Given the description of an element on the screen output the (x, y) to click on. 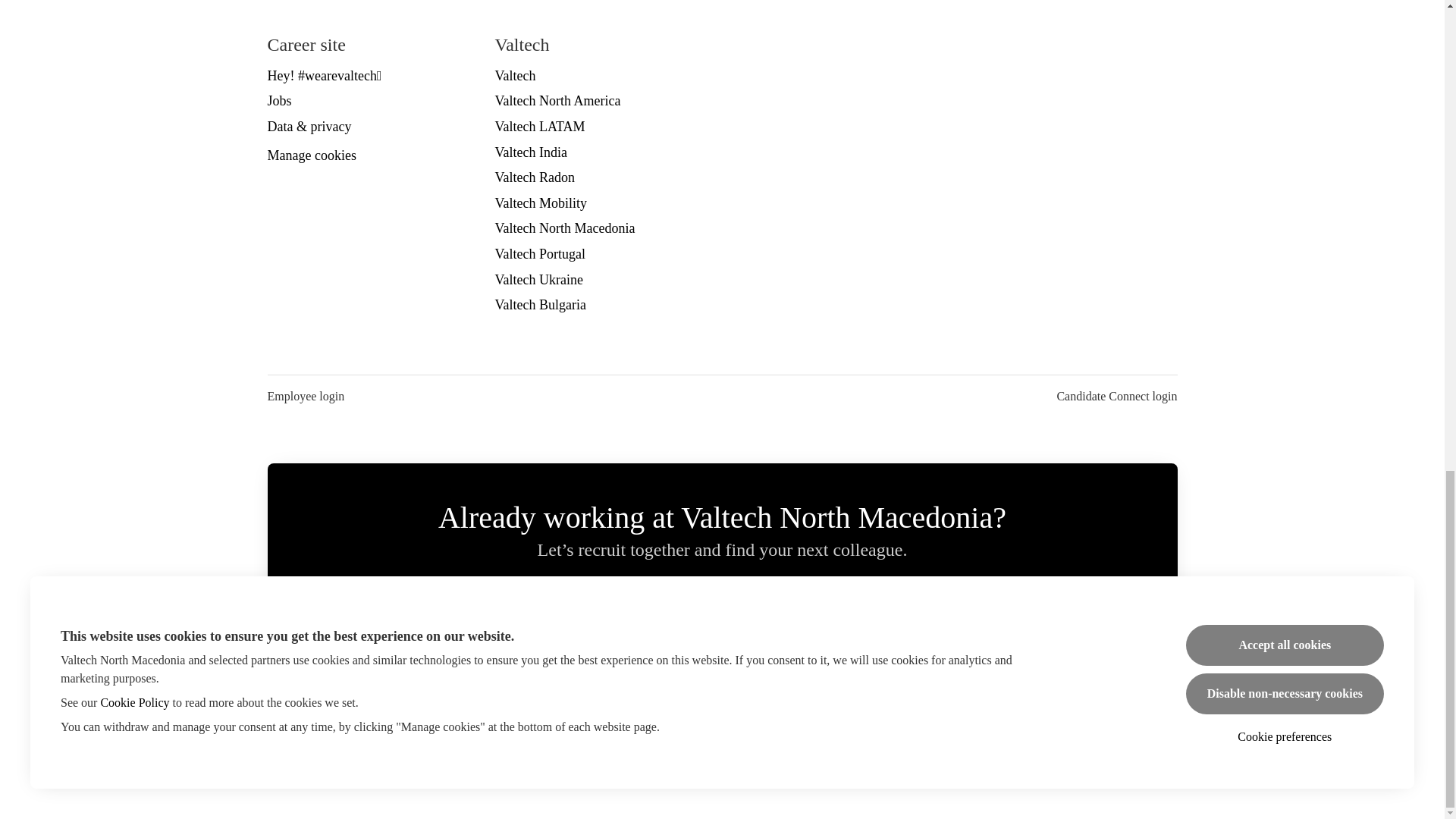
Jobs (278, 100)
Valtech Radon (534, 177)
Valtech (515, 75)
Valtech India (530, 151)
Manage cookies (310, 155)
Valtech North America (557, 100)
Valtech LATAM (540, 126)
